Given the description of an element on the screen output the (x, y) to click on. 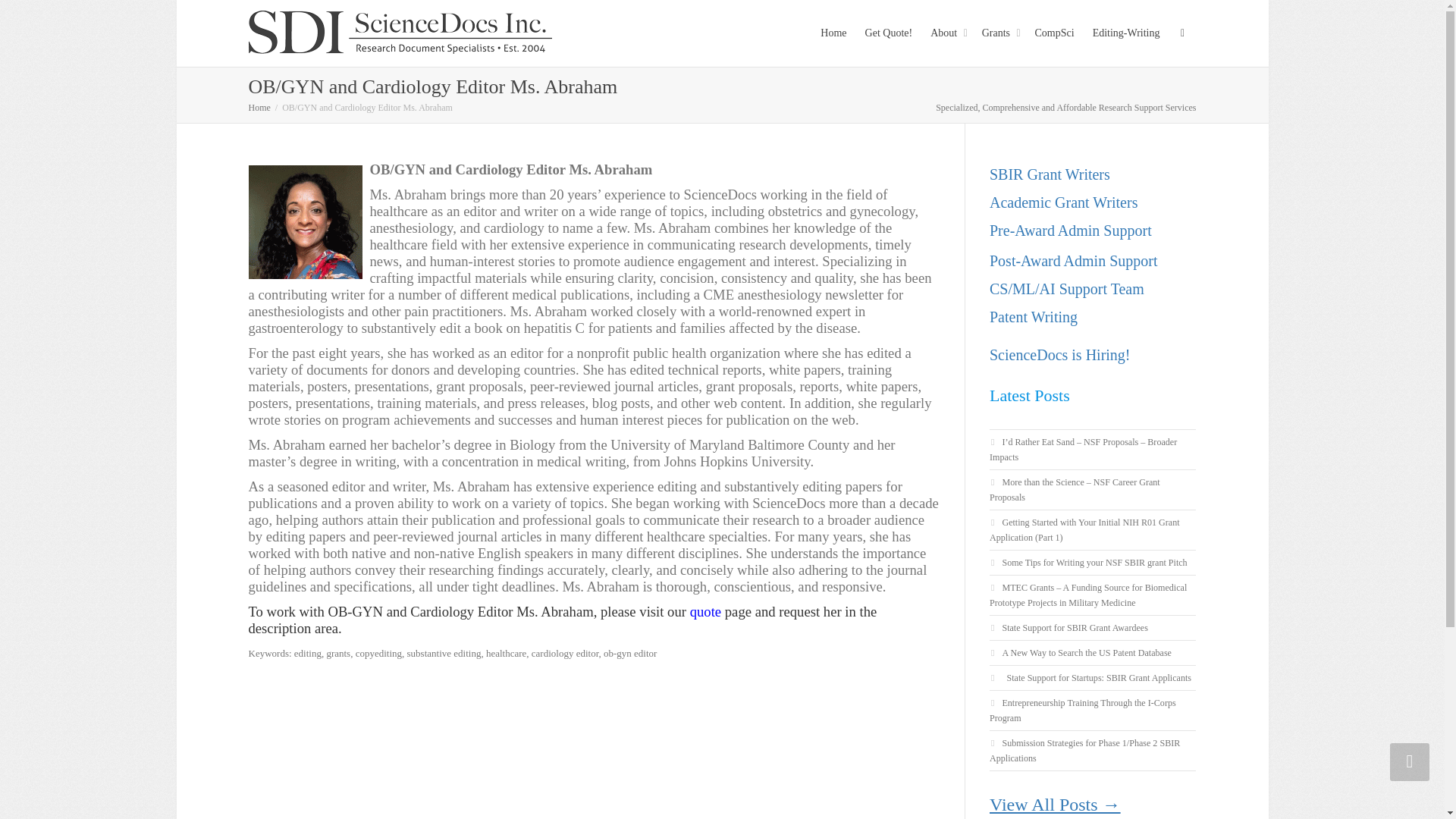
SBIR Grant Writers (1049, 174)
Editing-Writing (1126, 33)
Pre-Award Admin Support (1070, 230)
A New Way to Search the US Patent Database (1086, 652)
Patent Writing (1033, 316)
Entrepreneurship Training Through the I-Corps Program (1083, 710)
ScienceDocs is Hiring! (1060, 354)
Post-Award Admin Support (1073, 260)
Editing-Writing (1126, 33)
  State Support for Startups: SBIR Grant Applicants (1096, 677)
Home (259, 107)
Some Tips for Writing your NSF SBIR grant Pitch (1093, 562)
ScienceDocs (399, 32)
State Support for SBIR Grant Awardees (1074, 627)
quote (705, 613)
